Given the description of an element on the screen output the (x, y) to click on. 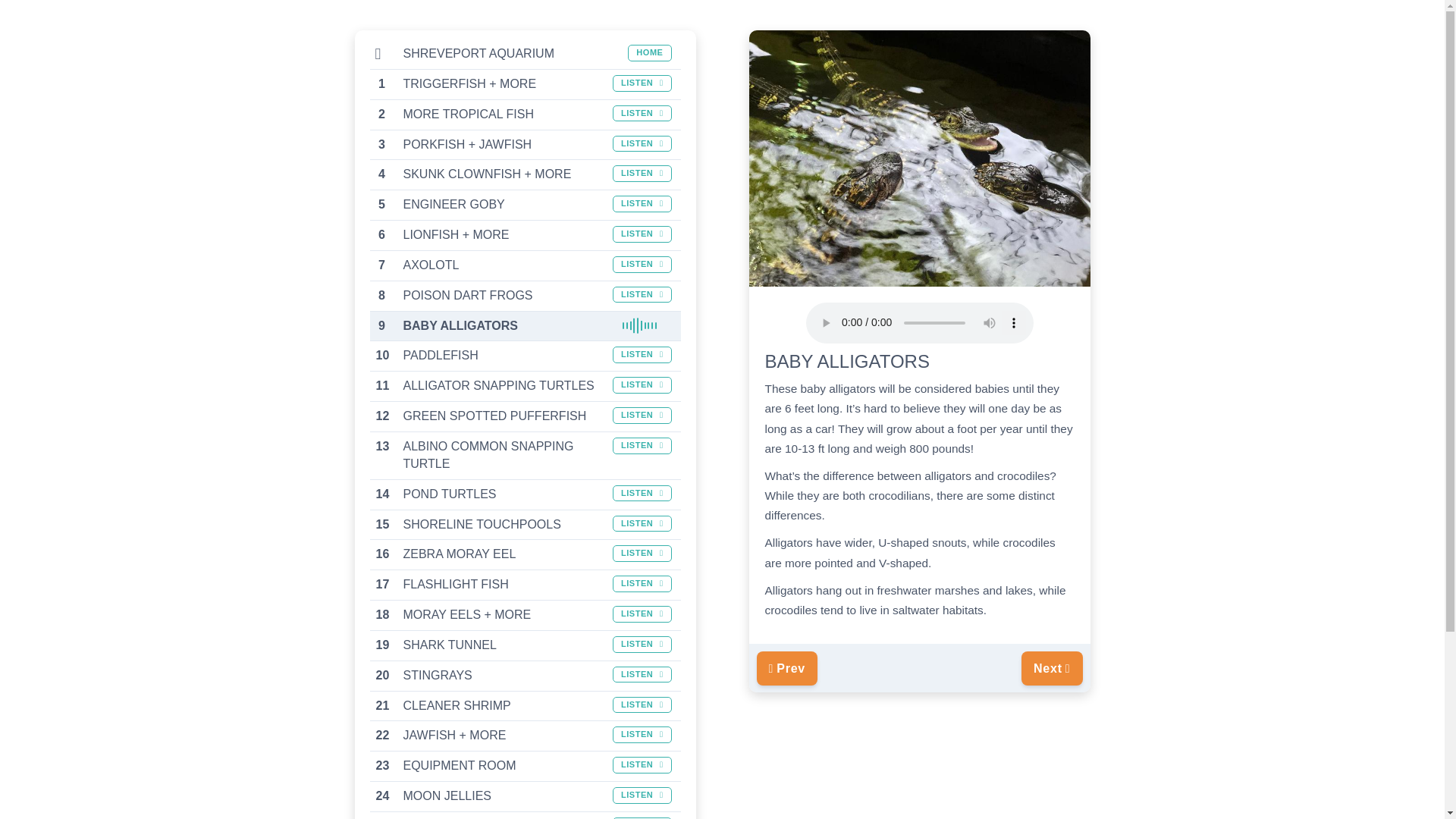
Prev (787, 668)
LISTEN (641, 644)
LISTEN (641, 83)
LISTEN (641, 234)
LISTEN (641, 173)
LISTEN (641, 113)
LISTEN (641, 614)
LISTEN (641, 384)
LISTEN (641, 523)
LISTEN (641, 583)
